Given the description of an element on the screen output the (x, y) to click on. 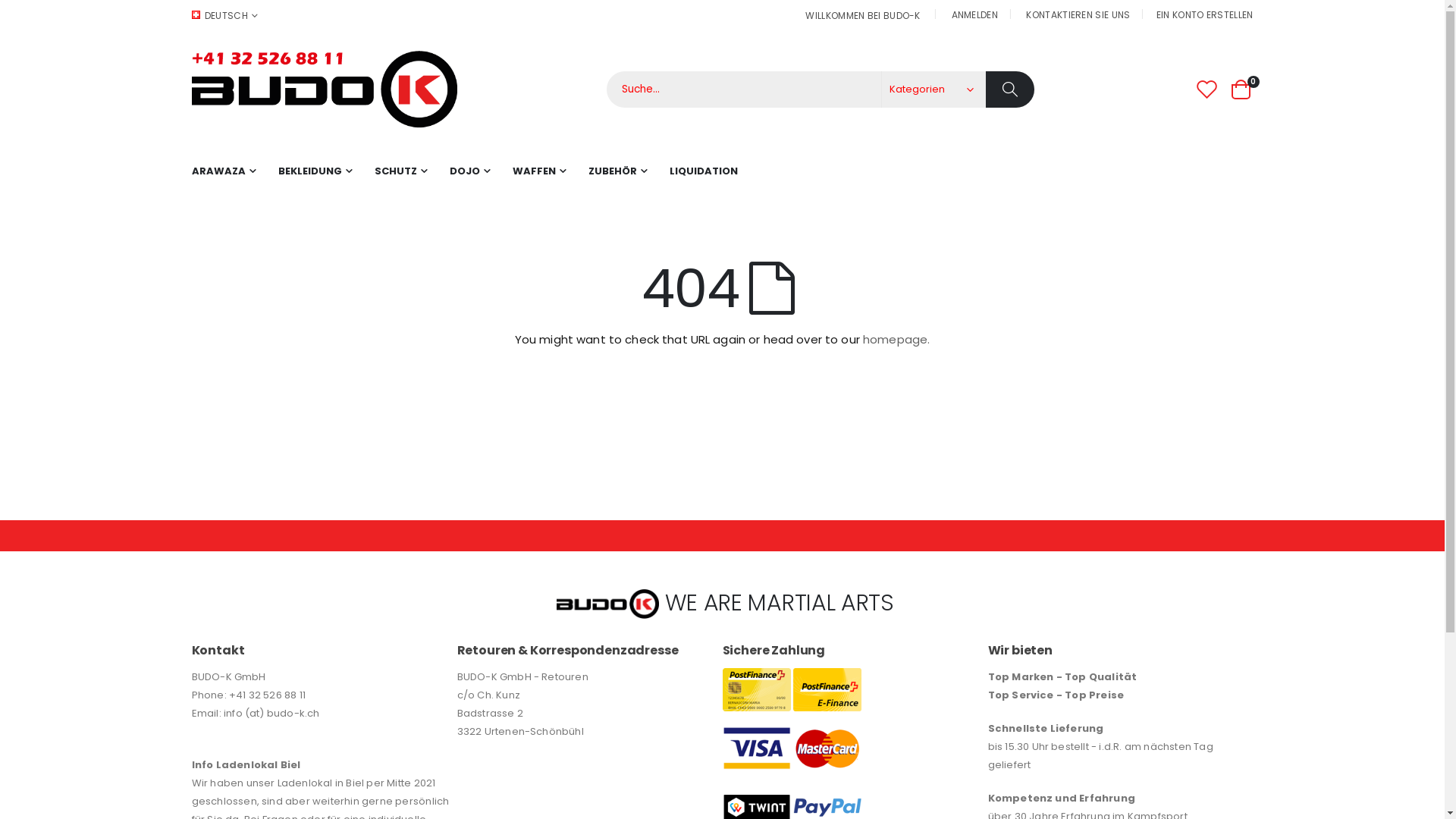
BUDO-K Element type: hover (323, 89)
WAFFEN Element type: text (538, 171)
ANMELDEN Element type: text (974, 14)
SCHUTZ Element type: text (400, 171)
Wishlist Element type: hover (1206, 88)
ARAWAZA Element type: text (222, 171)
Suche Element type: hover (1009, 89)
EIN KONTO ERSTELLEN Element type: text (1204, 14)
BEKLEIDUNG Element type: text (314, 171)
KONTAKTIEREN SIE UNS Element type: text (1077, 14)
Warenkorb
0
Artikel Element type: text (1240, 89)
DOJO Element type: text (468, 171)
LIQUIDATION Element type: text (702, 171)
homepage. Element type: text (895, 339)
